Given the description of an element on the screen output the (x, y) to click on. 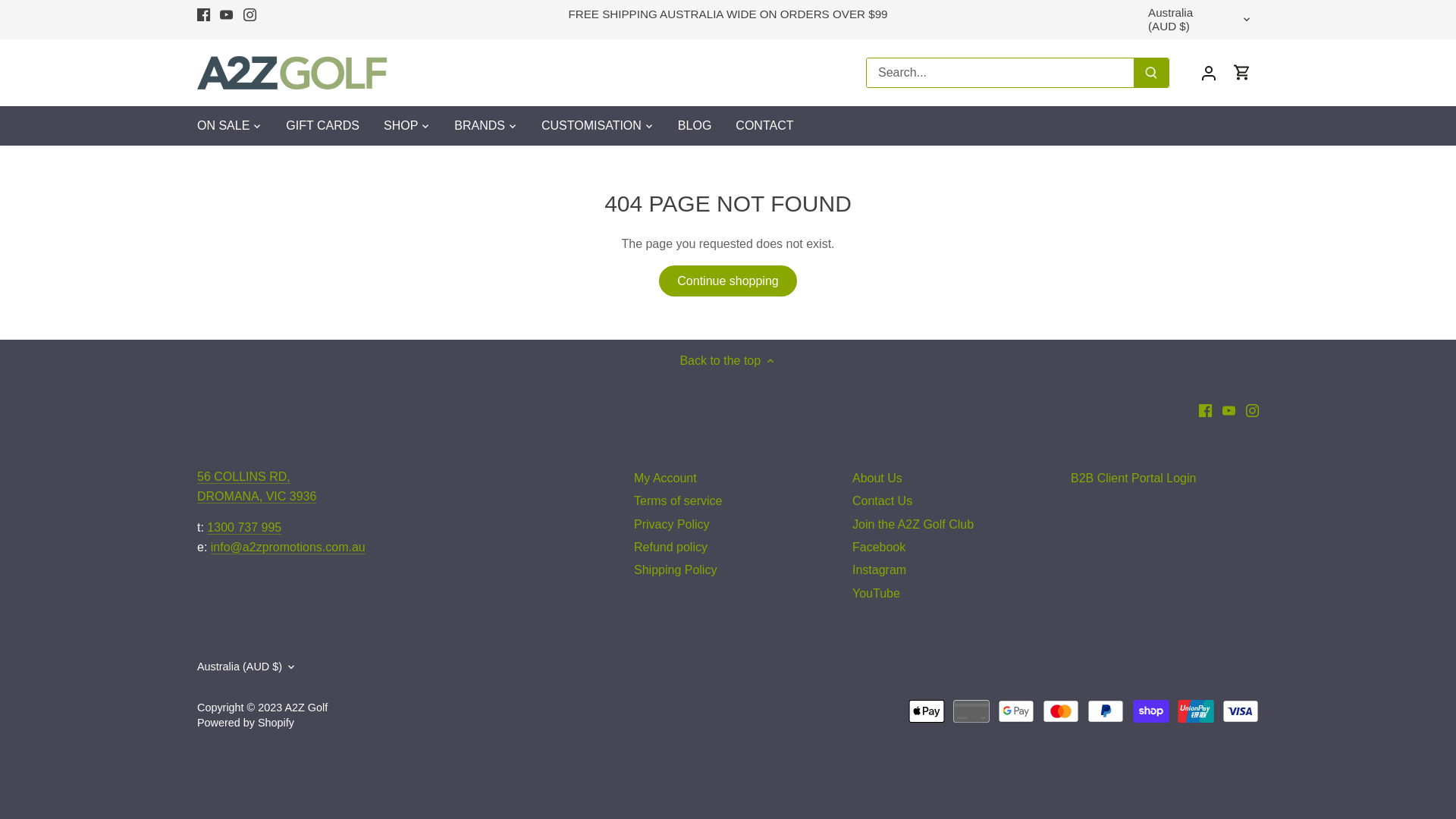
Instagram Element type: text (249, 14)
BLOG Element type: text (694, 126)
Facebook Element type: text (878, 547)
CUSTOMISATION Element type: text (591, 126)
My Account Element type: text (664, 478)
About Us Element type: text (877, 478)
FREE SHIPPING AUSTRALIA WIDE ON ORDERS OVER $99 Element type: text (727, 13)
Privacy Policy Element type: text (671, 524)
GIFT CARDS Element type: text (322, 126)
Instagram Element type: text (879, 570)
BRANDS Element type: text (479, 126)
Instagram Element type: text (1251, 409)
Australia (AUD $) Element type: text (247, 666)
B2B Client Portal Login Element type: text (1132, 478)
ON SALE Element type: text (229, 126)
1300 737 995 Element type: text (244, 527)
Continue shopping Element type: text (727, 280)
Contact Us Element type: text (882, 501)
Australia (AUD $) Element type: text (1200, 19)
CONTACT Element type: text (764, 126)
Facebook Element type: text (1204, 409)
SHOP Element type: text (400, 126)
YouTube Element type: text (876, 593)
Youtube Element type: text (1228, 409)
A2Z Golf Element type: text (305, 707)
Shipping Policy Element type: text (674, 570)
Refund policy Element type: text (670, 547)
Terms of service Element type: text (677, 501)
Powered by Shopify Element type: text (245, 722)
info@a2zpromotions.com.au Element type: text (287, 547)
Back to the top Element type: text (727, 360)
Youtube Element type: text (225, 14)
56 COLLINS RD,
DROMANA, VIC 3936 Element type: text (256, 486)
Facebook Element type: text (203, 14)
Join the A2Z Golf Club Element type: text (912, 524)
Go to cart Element type: hover (1242, 72)
